Given the description of an element on the screen output the (x, y) to click on. 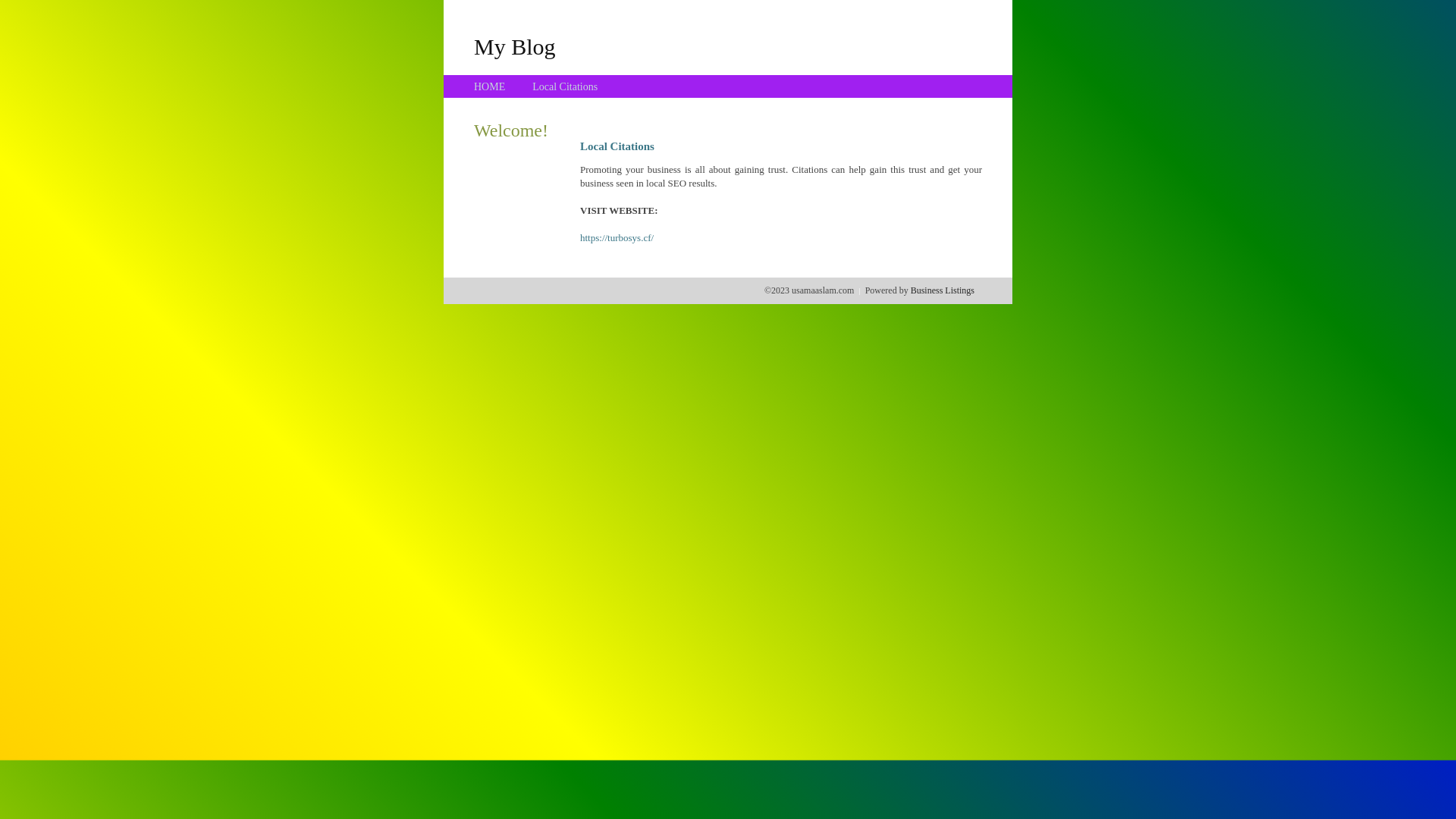
HOME Element type: text (489, 86)
https://turbosys.cf/ Element type: text (616, 237)
Local Citations Element type: text (564, 86)
Business Listings Element type: text (942, 290)
My Blog Element type: text (514, 46)
